Given the description of an element on the screen output the (x, y) to click on. 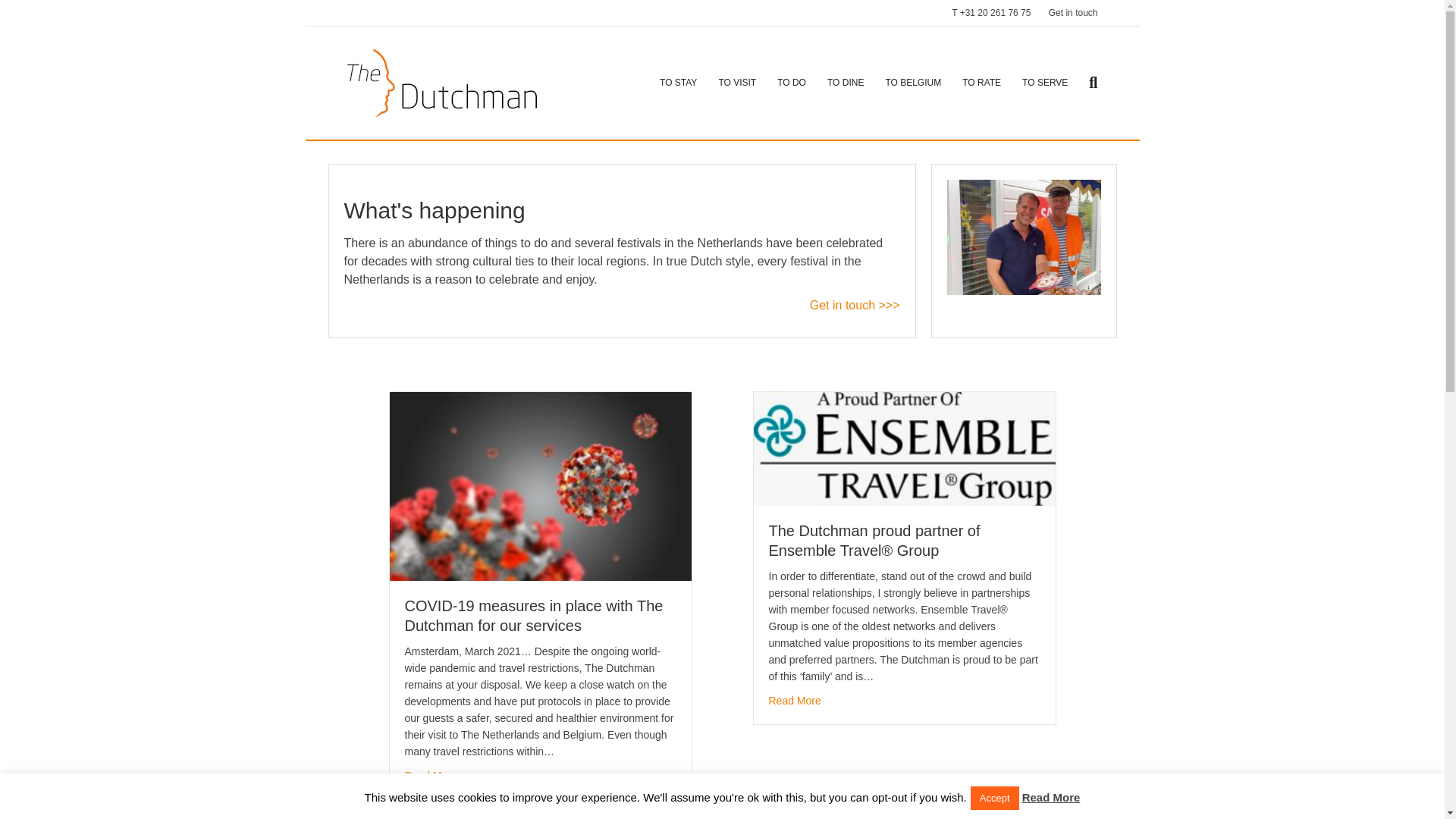
Read More (794, 700)
TO VISIT (737, 82)
TO DO (791, 82)
TO DINE (845, 82)
TO RATE (981, 82)
Get in touch (1073, 13)
TO SERVE (1044, 82)
Read More (430, 775)
TO STAY (678, 82)
TO BELGIUM (913, 82)
